Given the description of an element on the screen output the (x, y) to click on. 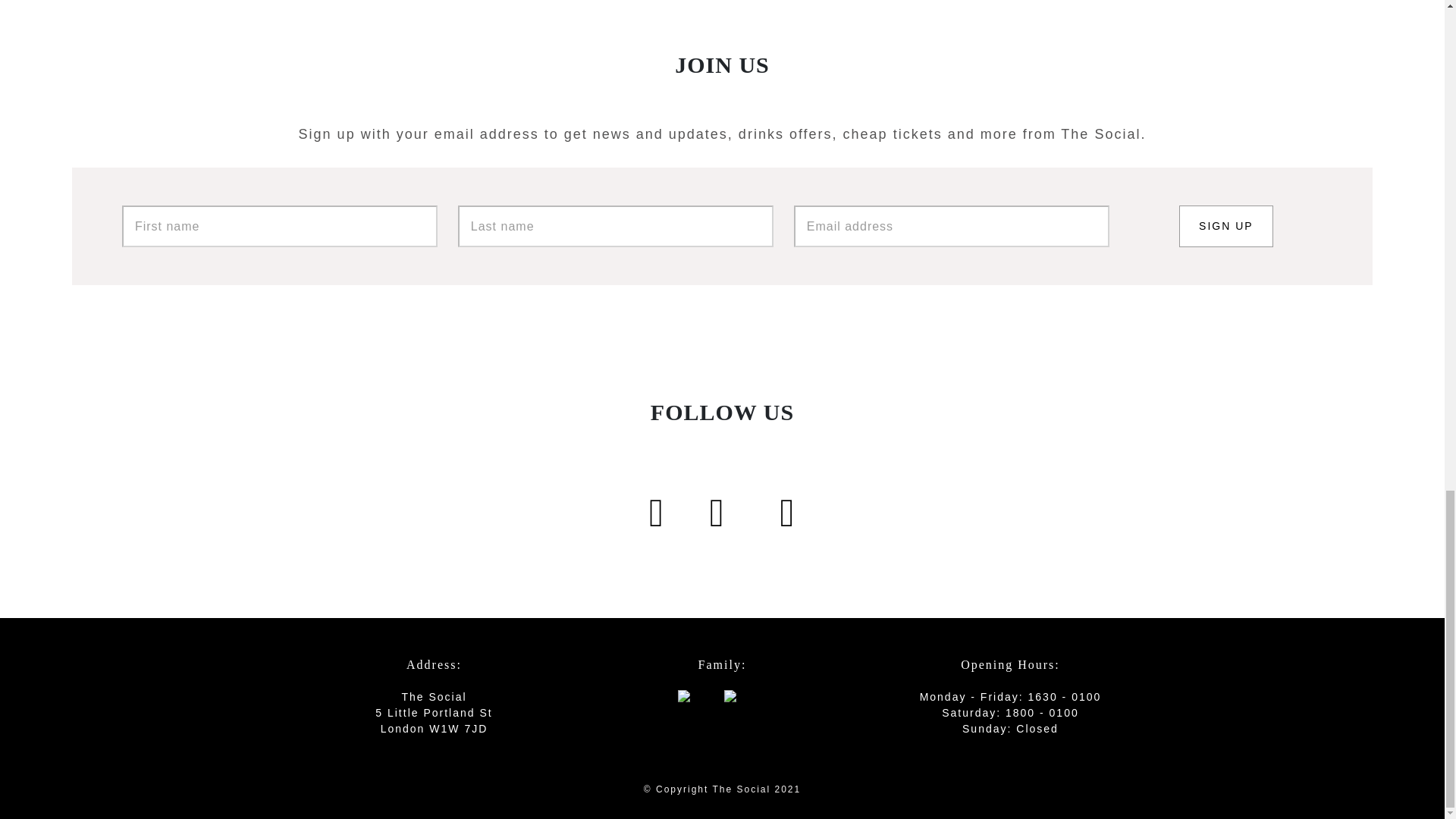
Sign up (1225, 226)
Sign up (1225, 226)
